Given the description of an element on the screen output the (x, y) to click on. 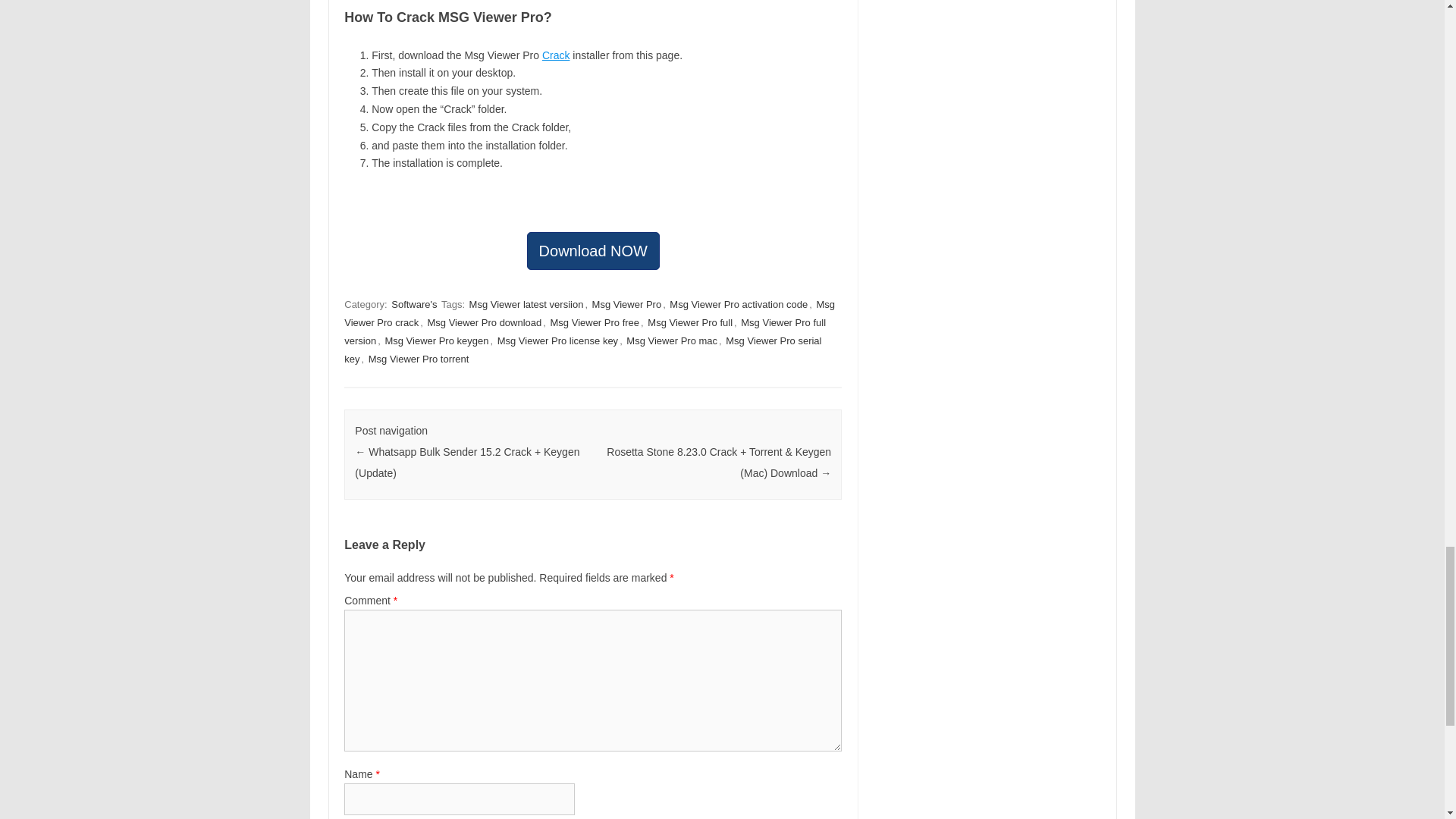
Download NOW (593, 250)
Msg Viewer Pro keygen (435, 340)
Msg Viewer Pro download (484, 322)
Msg Viewer Pro crack (588, 313)
Msg Viewer Pro mac (671, 340)
Msg Viewer Pro full (689, 322)
Crack (555, 55)
Msg Viewer Pro free (595, 322)
Msg Viewer Pro torrent (418, 359)
Msg Viewer Pro serial key (582, 349)
Msg Viewer Pro (627, 304)
Msg Viewer Pro license key (558, 340)
Msg Viewer Pro activation code (738, 304)
Msg Viewer latest versiion (526, 304)
Software's (414, 304)
